Given the description of an element on the screen output the (x, y) to click on. 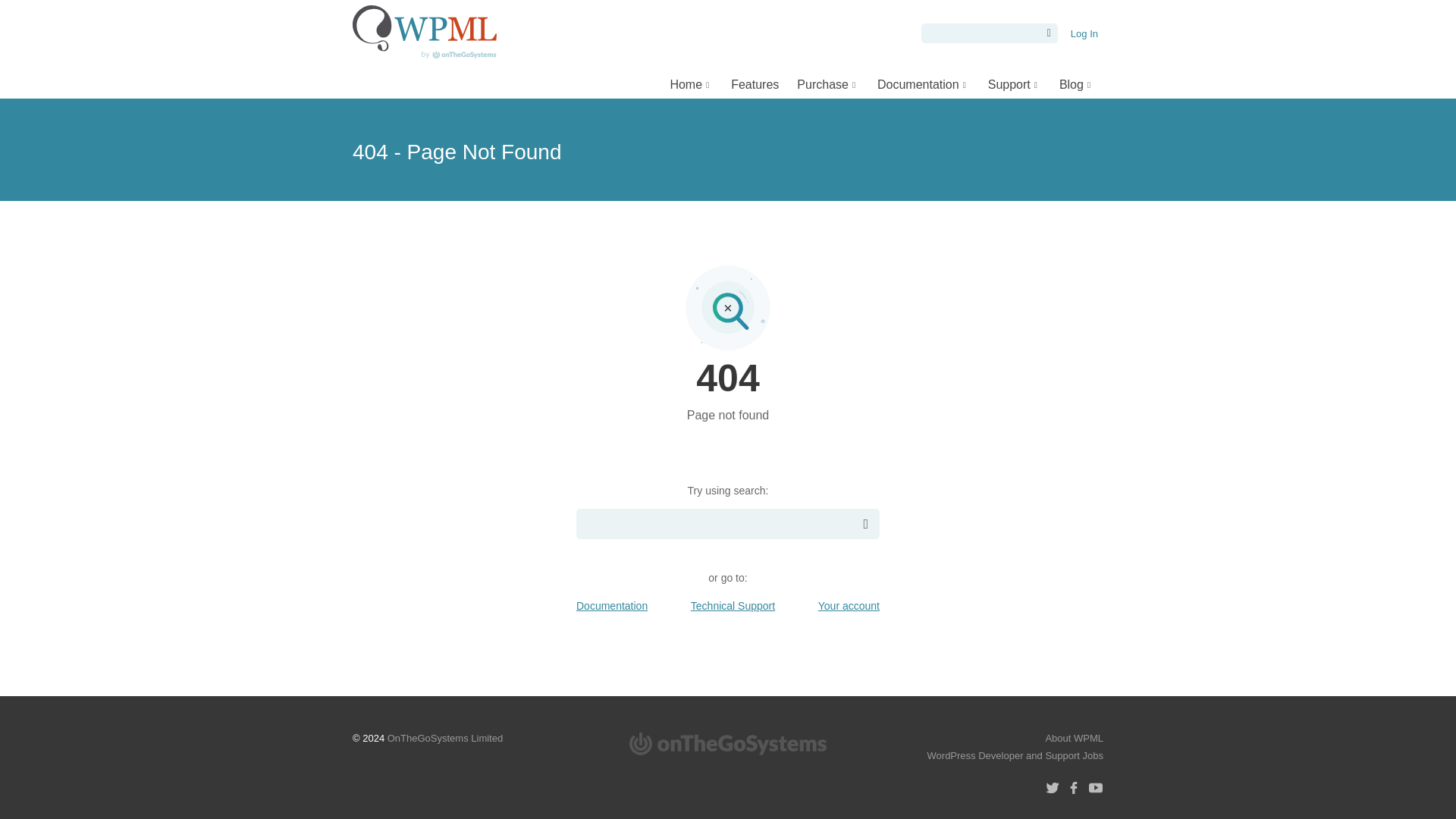
Search (1045, 33)
Home (691, 84)
Features (754, 84)
Search (1045, 33)
Log In (1084, 32)
Purchase (827, 84)
Support (1013, 84)
Documentation (922, 84)
